Given the description of an element on the screen output the (x, y) to click on. 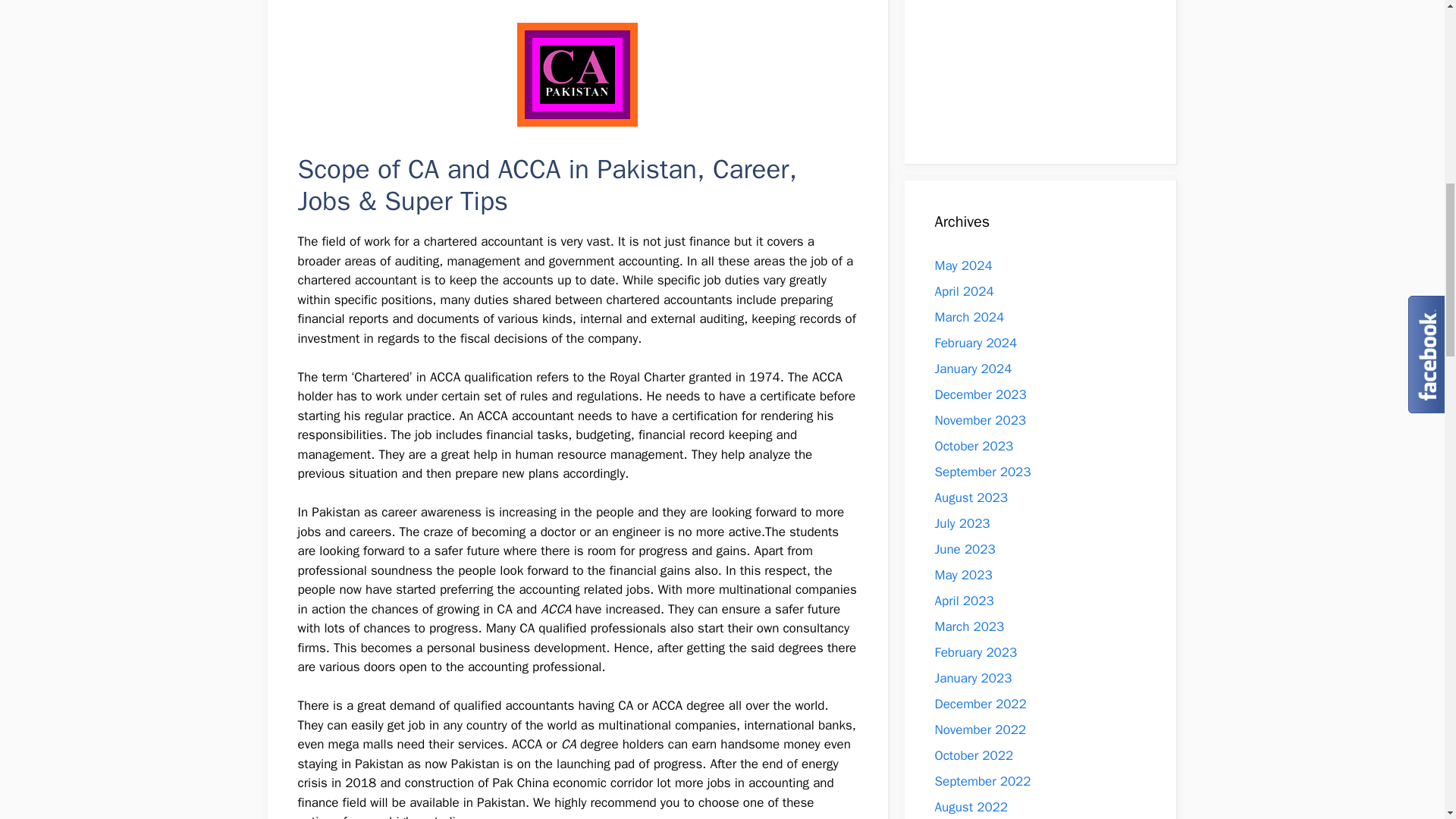
Advertisement (1031, 66)
